Given the description of an element on the screen output the (x, y) to click on. 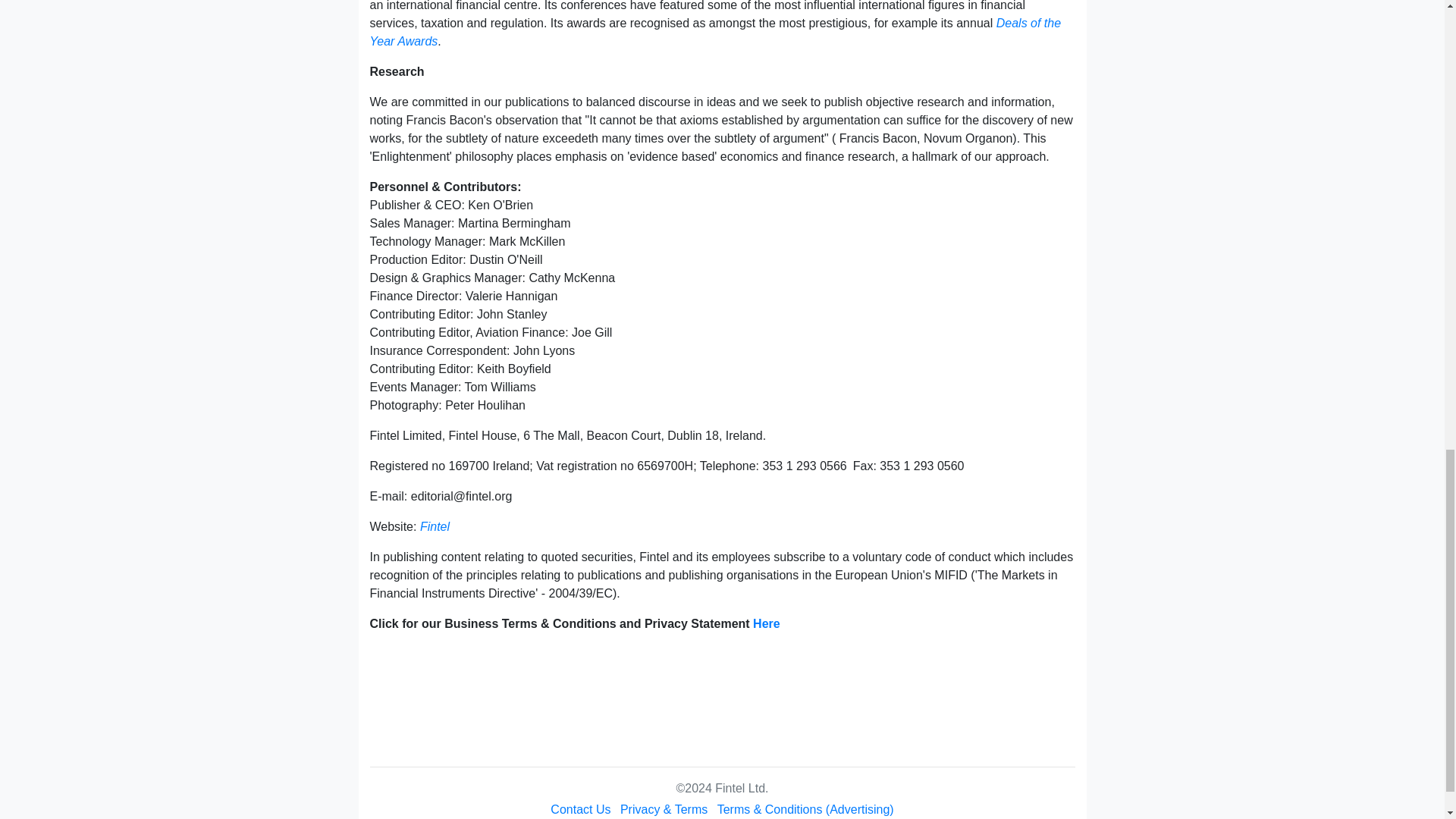
Deals of the Year Awards (715, 31)
Here (766, 623)
Fintel (434, 526)
Contact Us (580, 809)
